Given the description of an element on the screen output the (x, y) to click on. 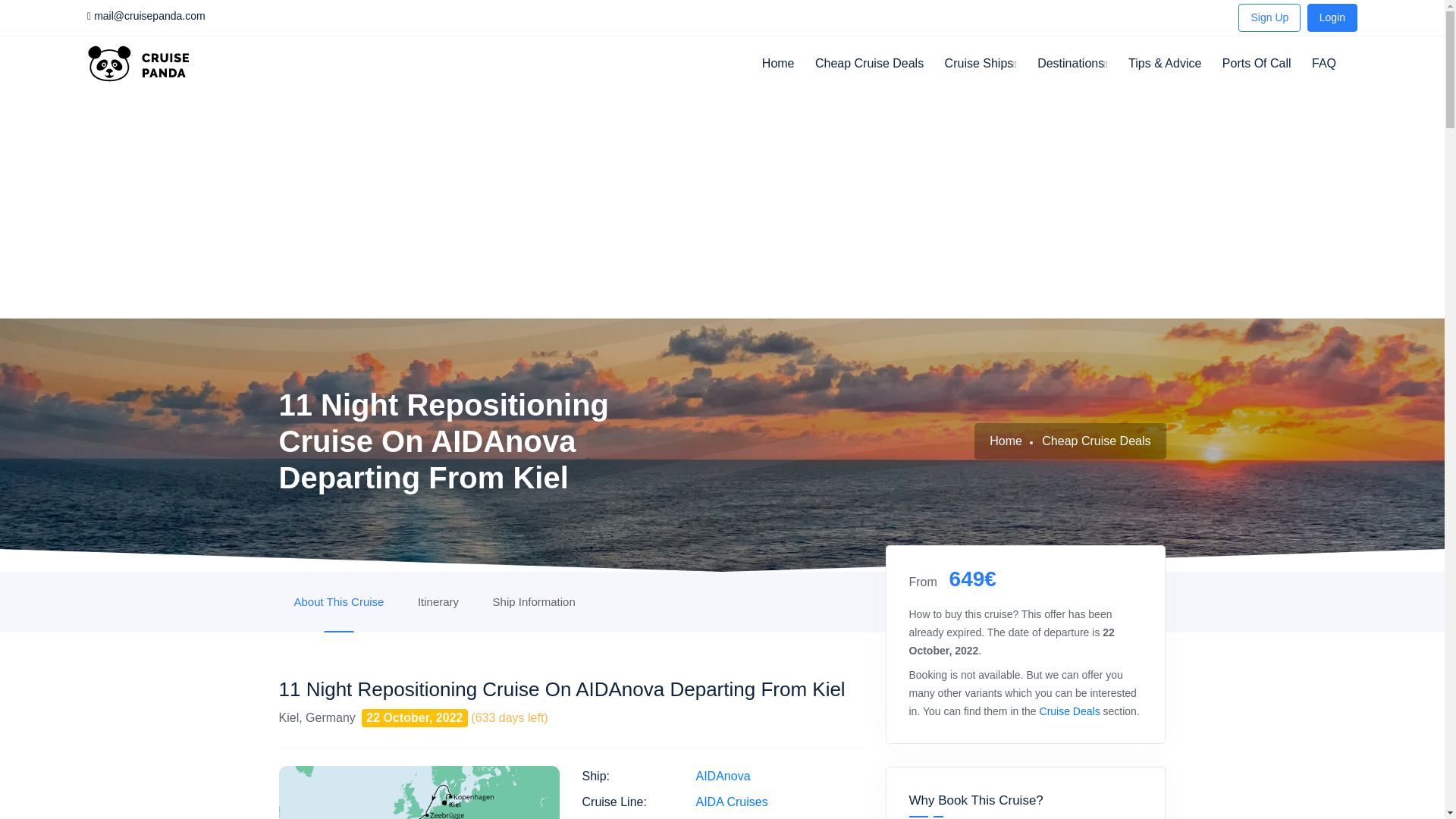
Ship Information (534, 601)
Cruise Ships (980, 71)
Home (777, 71)
Destinations (1071, 71)
Itinerary (438, 601)
About This Cruise (338, 601)
Login (1331, 17)
Cheap Cruise Deals (869, 71)
Sign Up (1269, 17)
FAQ (1323, 71)
Ports Of Call (1257, 71)
